Given the description of an element on the screen output the (x, y) to click on. 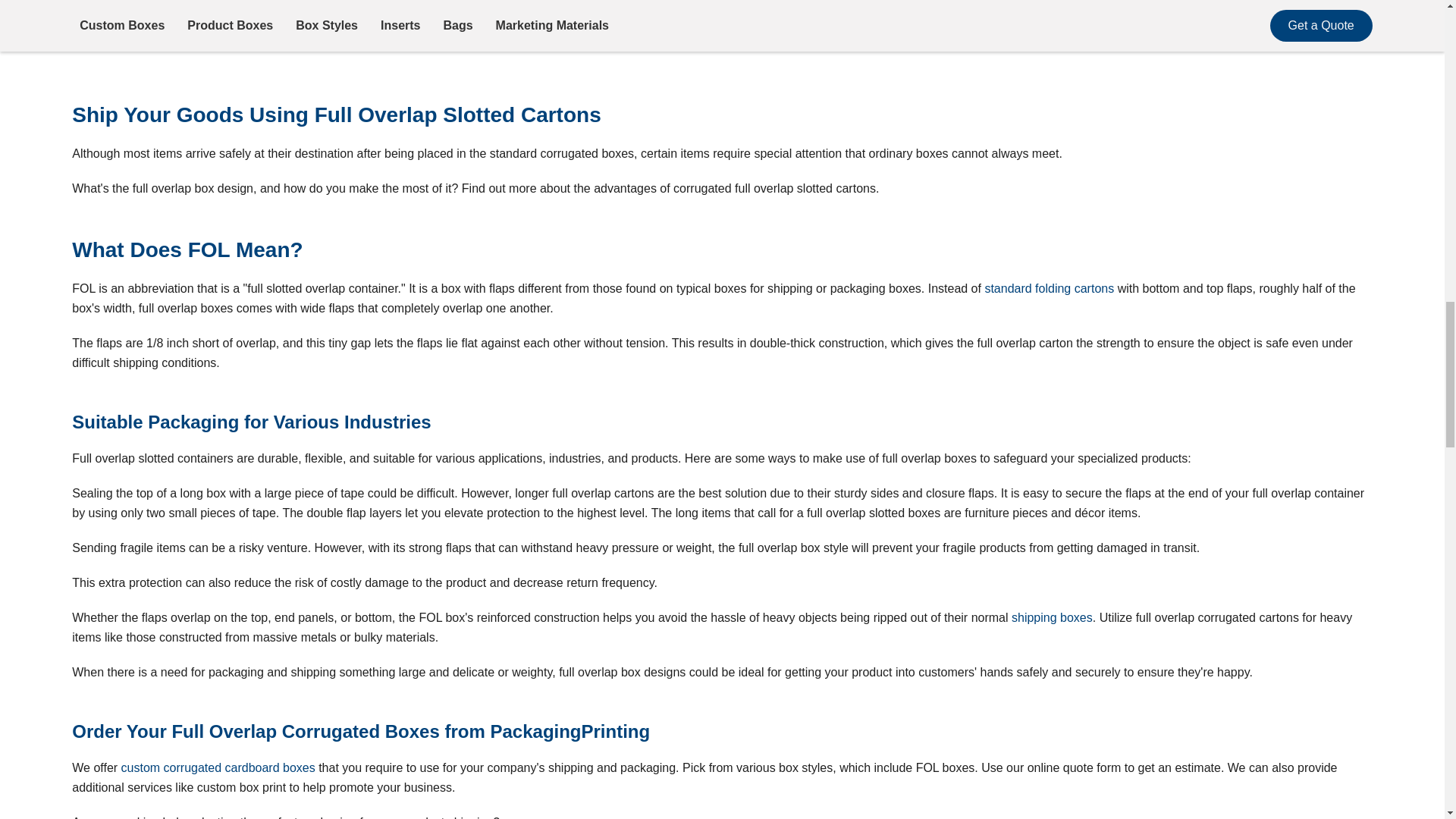
shipping boxes (1052, 617)
standard folding cartons (1048, 287)
custom corrugated cardboard boxes (217, 767)
